Given the description of an element on the screen output the (x, y) to click on. 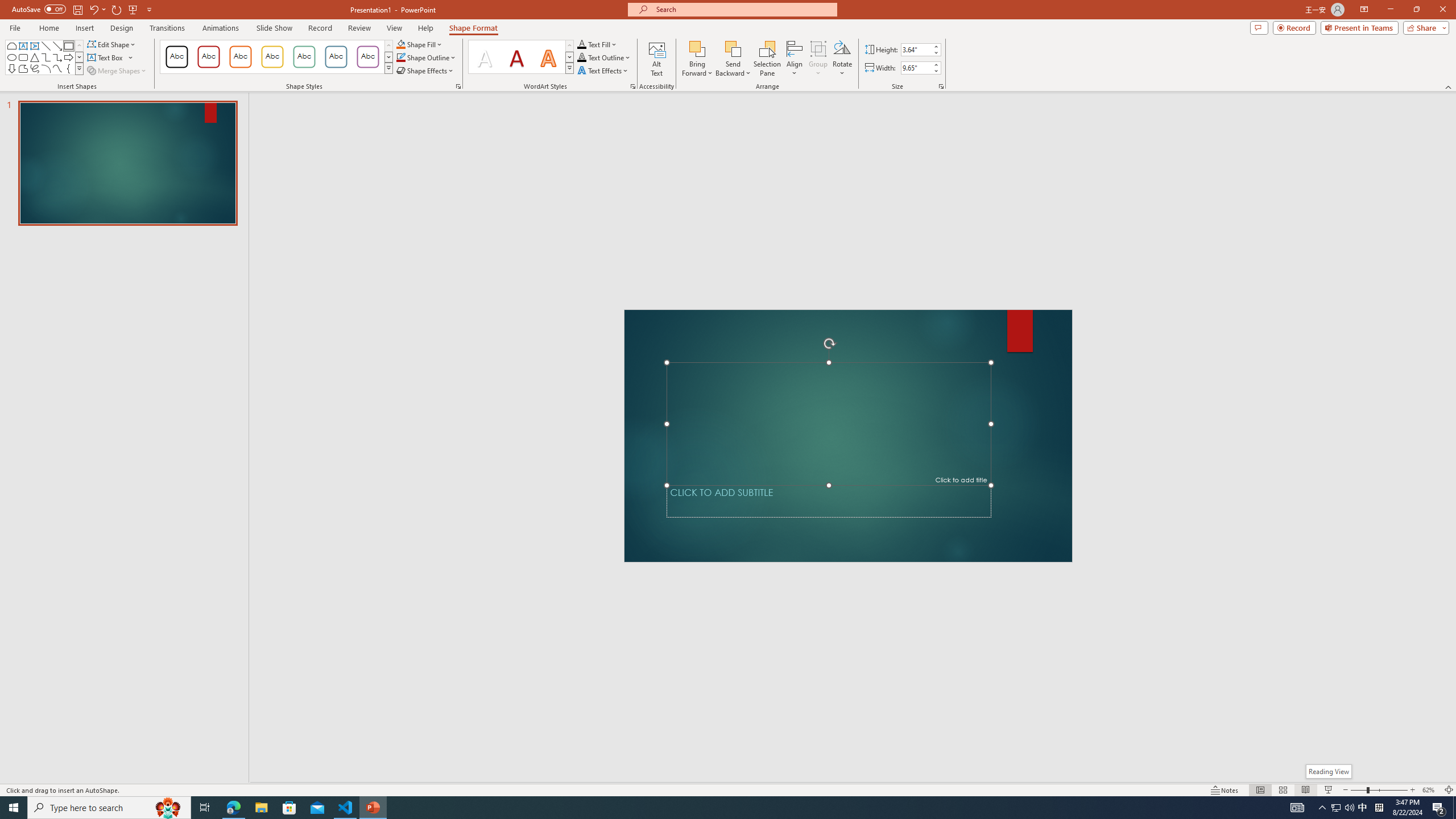
Transitions (167, 28)
Text Box (110, 56)
Vertical Text Box (34, 45)
Row Down (568, 56)
Rectangle: Rounded Corners (23, 57)
Colored Outline - Dark Red, Accent 1 (208, 56)
Text Effects (603, 69)
Align (794, 58)
Subtitle TextBox (828, 500)
Zoom to Fit  (1449, 790)
File Tab (15, 27)
Text Fill (596, 44)
More (935, 64)
